Given the description of an element on the screen output the (x, y) to click on. 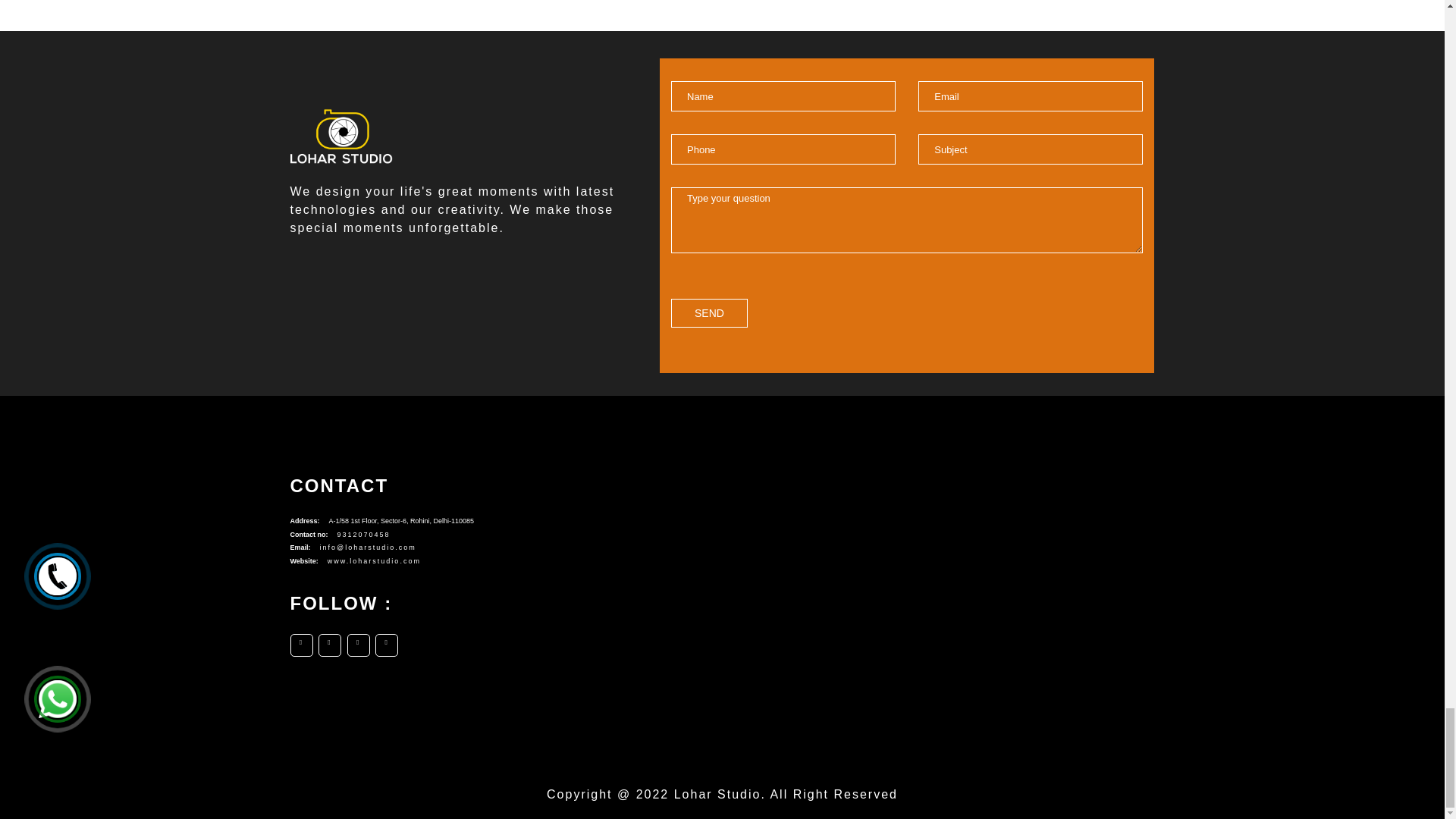
Send (709, 313)
